Given the description of an element on the screen output the (x, y) to click on. 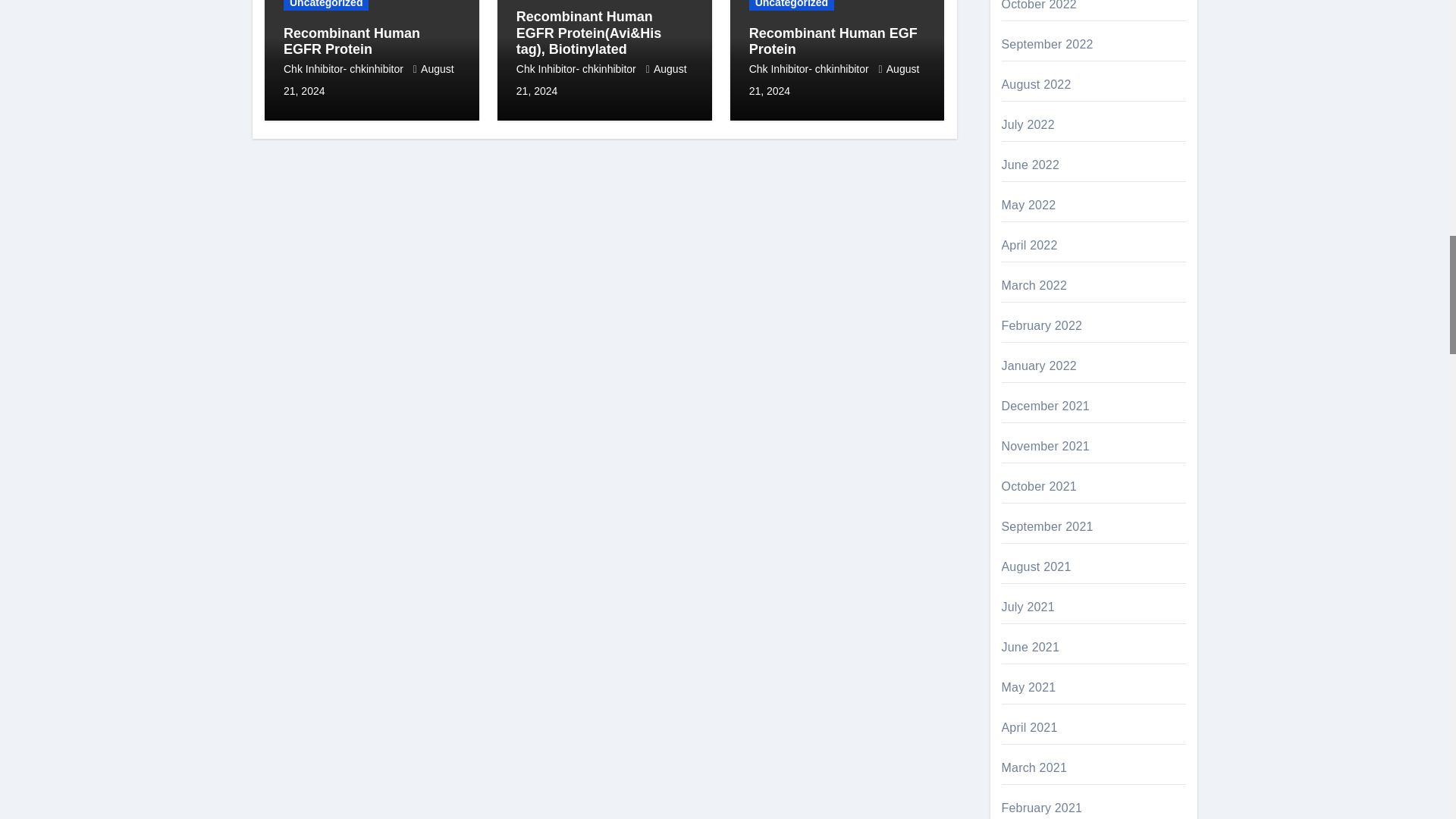
Uncategorized (325, 5)
Recombinant Human EGFR Protein (351, 41)
Permalink to: Recombinant Human EGFR Protein (351, 41)
Permalink to: Recombinant Human EGF Protein (833, 41)
Chk Inhibitor- chkinhibitor (344, 69)
